Given the description of an element on the screen output the (x, y) to click on. 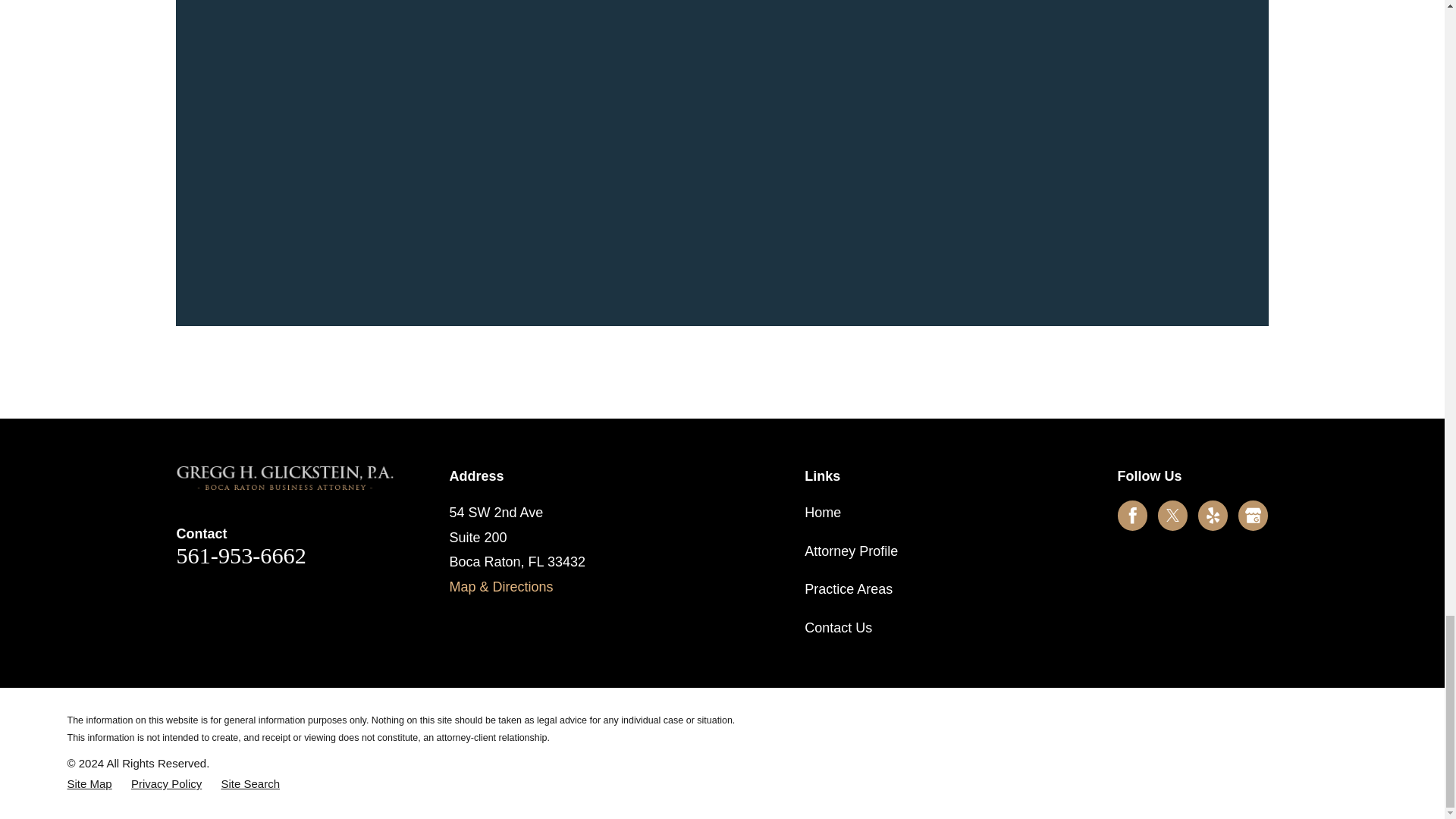
Home (285, 477)
Twitter (1172, 515)
Facebook (1132, 515)
